Given the description of an element on the screen output the (x, y) to click on. 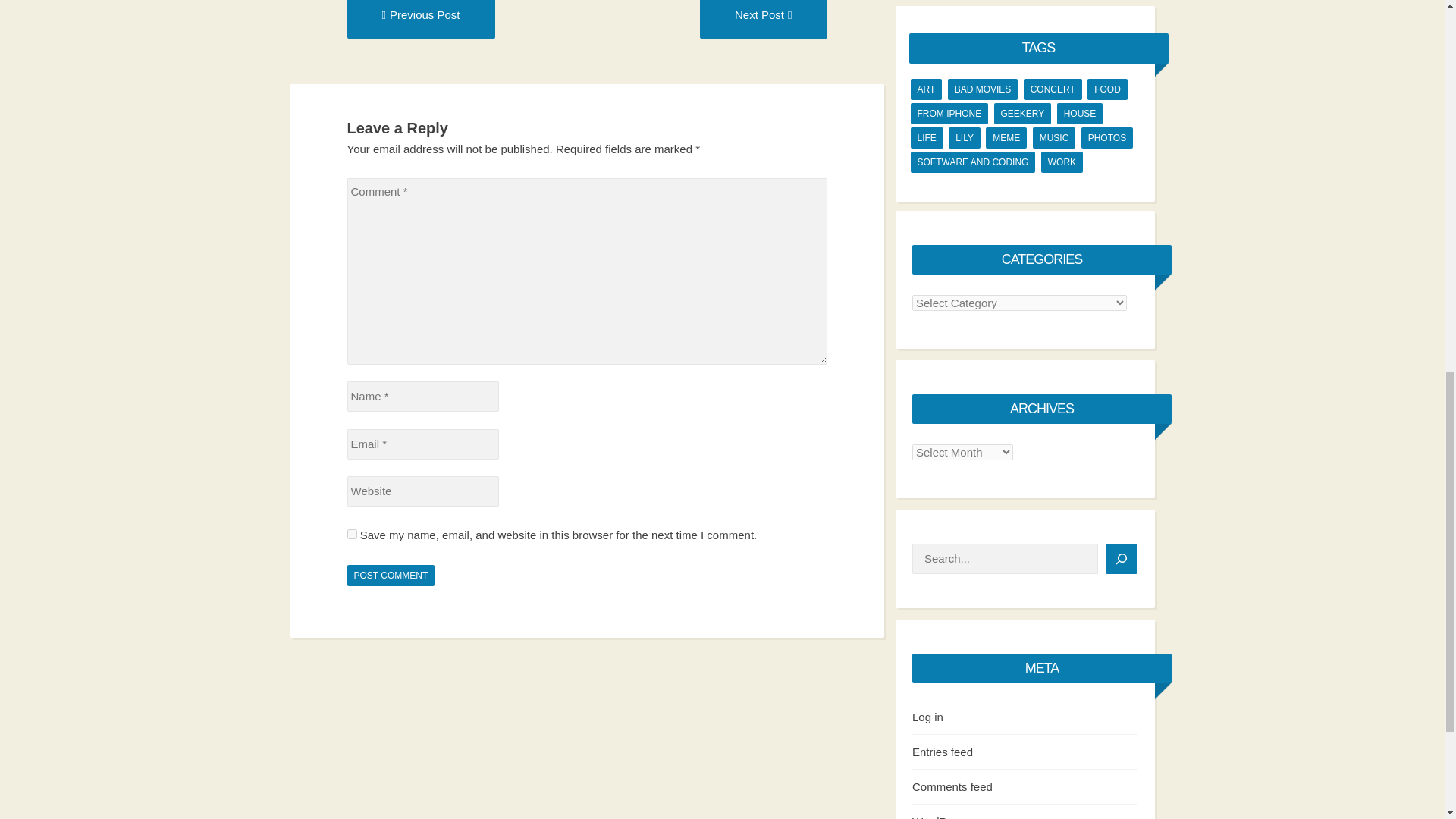
MUSIC (1053, 137)
PHOTOS (1106, 137)
FROM IPHONE (949, 113)
WORK (1062, 161)
HOUSE (1080, 113)
MEME (1005, 137)
Post Comment (391, 575)
LIFE (926, 137)
FOOD (1106, 88)
CONCERT (1052, 88)
